Given the description of an element on the screen output the (x, y) to click on. 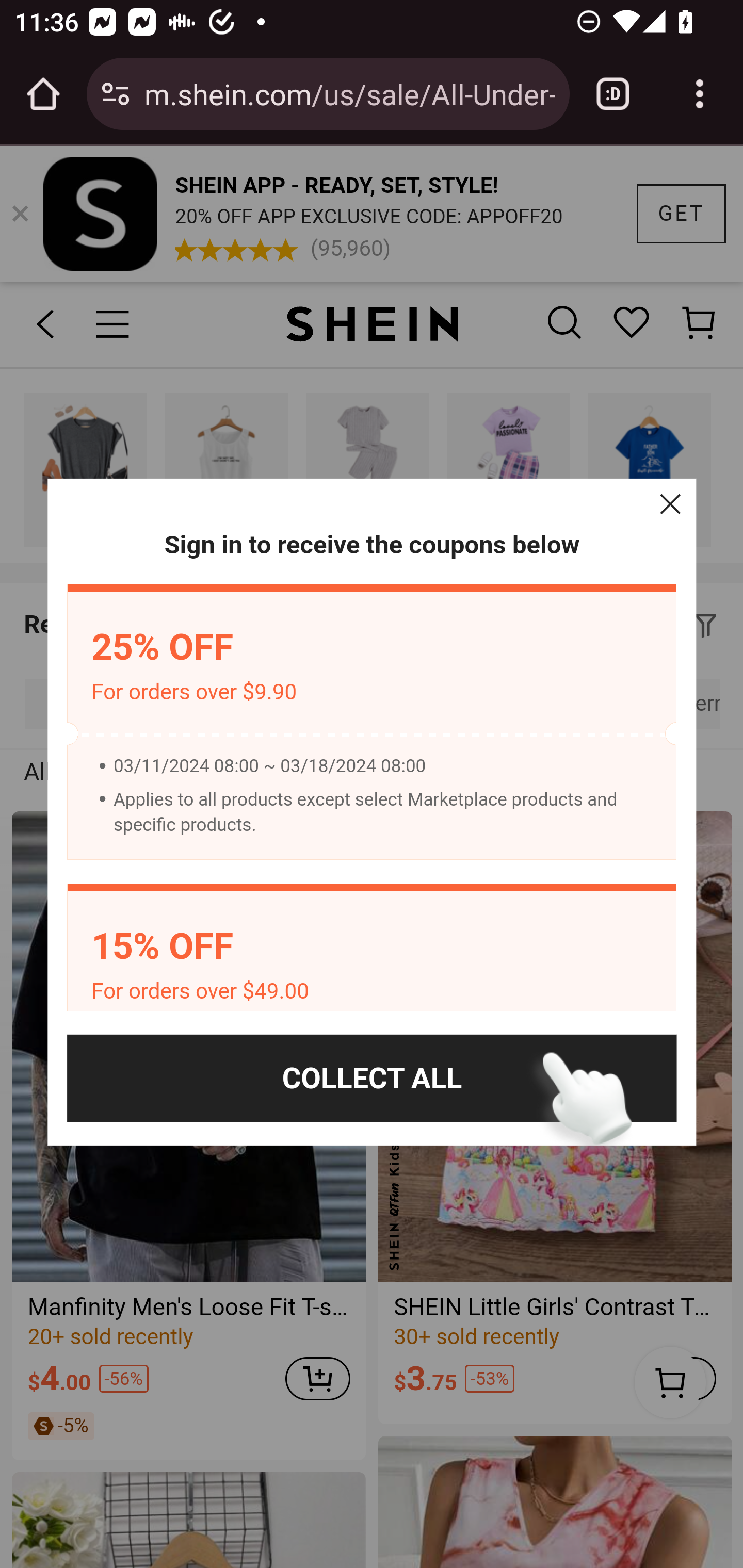
Open the home page (43, 93)
Connection is secure (115, 93)
Switch or close tabs (612, 93)
Customize and control Google Chrome (699, 93)
Close (669, 503)
COLLECT ALL (371, 1077)
